Given the description of an element on the screen output the (x, y) to click on. 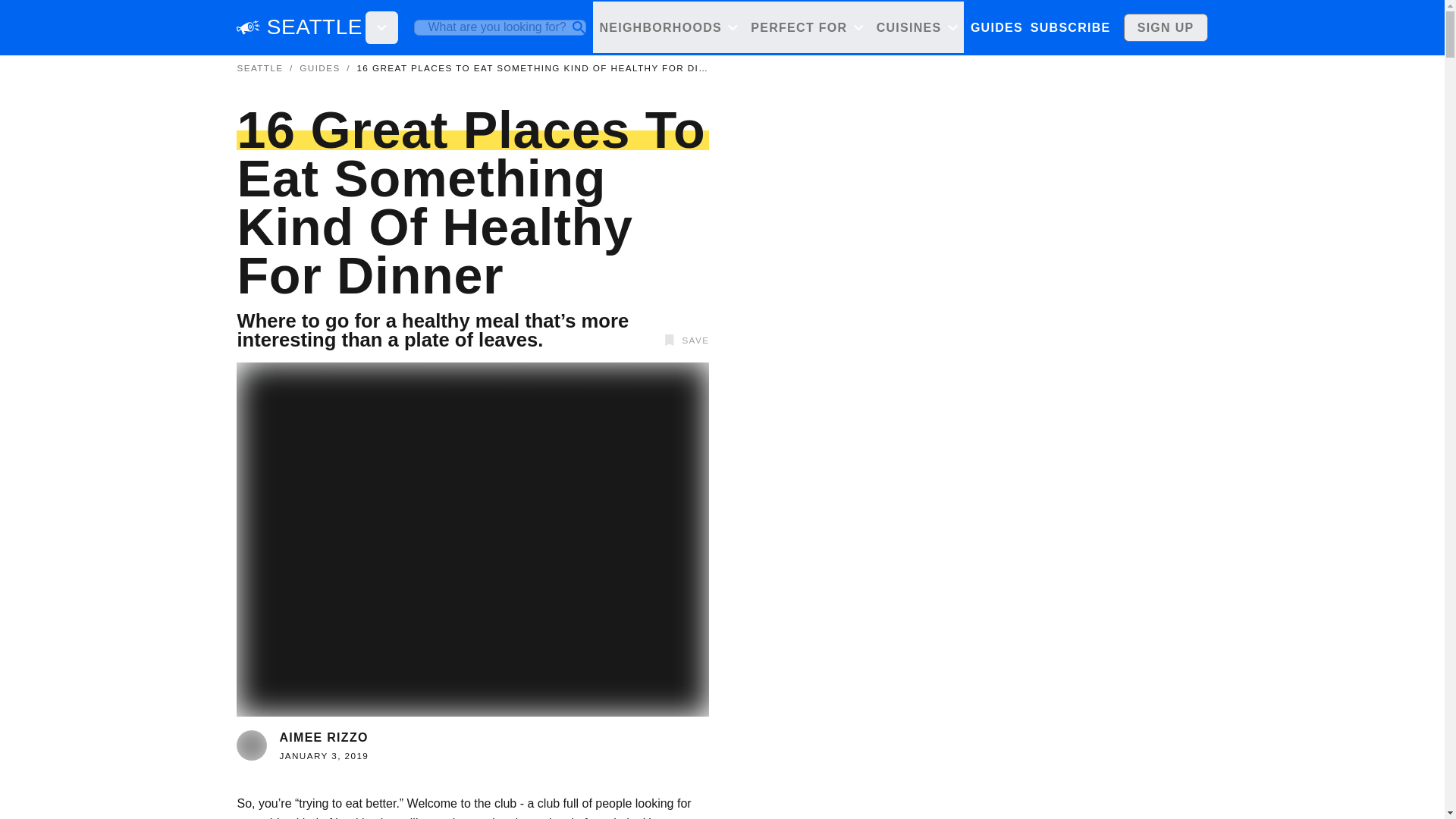
GUIDES (996, 27)
GUIDES (319, 67)
PERFECT FOR (806, 27)
SIGN UP (1166, 27)
SEATTLE (258, 67)
REVIEWS (1067, 27)
NEIGHBORHOODS (668, 27)
SUBSCRIBE (1069, 27)
SAVE (684, 340)
SEATTLE (314, 26)
What are you looking for? (499, 27)
CUISINES (916, 27)
